Given the description of an element on the screen output the (x, y) to click on. 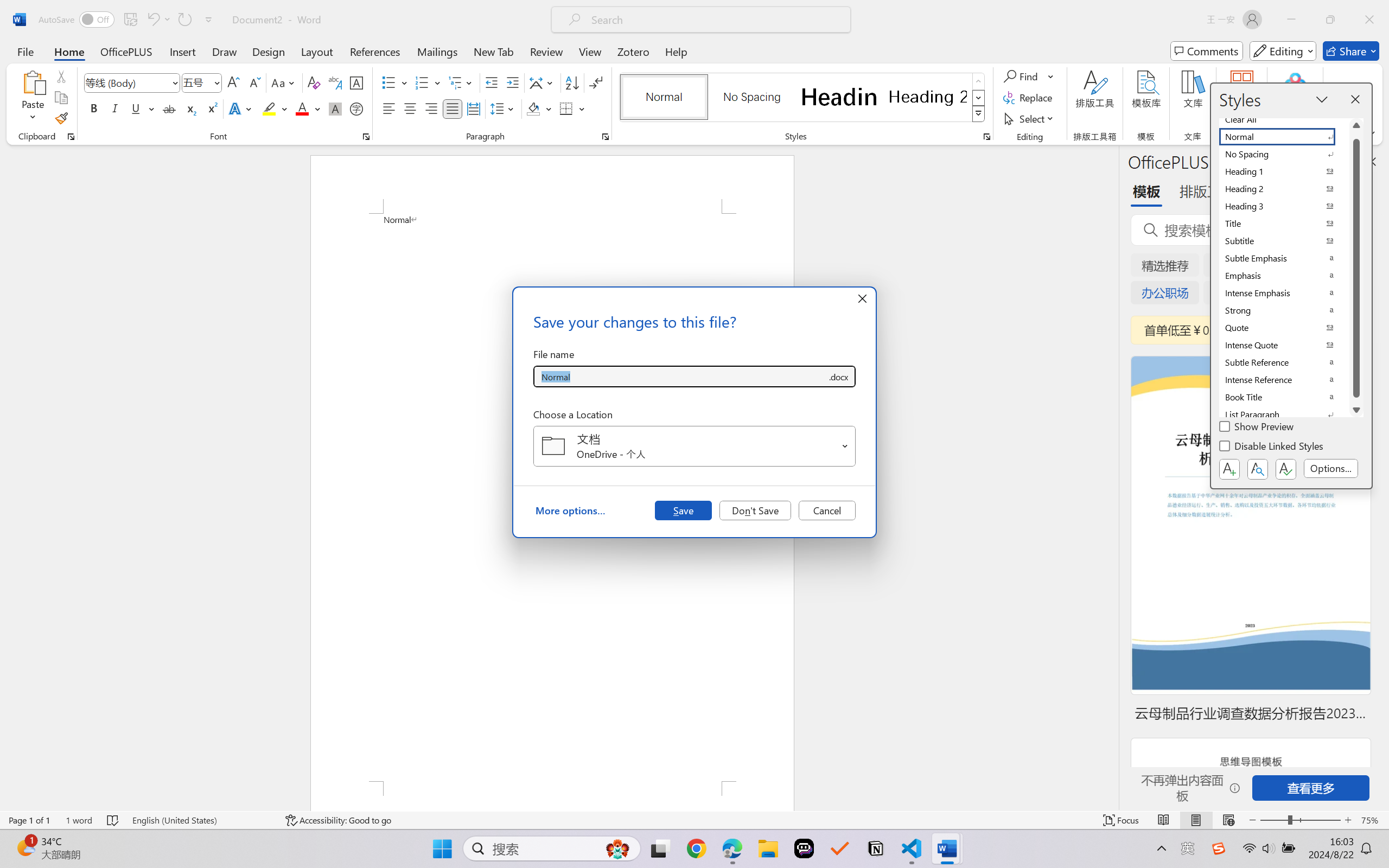
Zotero (632, 51)
Zoom (1300, 819)
Format Painter (60, 118)
Notion (875, 848)
Minimize (1291, 19)
File name (680, 376)
Undo Apply Quick Style (158, 19)
AutomationID: QuickStylesGallery (802, 97)
File Tab (24, 51)
Share (1350, 51)
Strikethrough (169, 108)
